Given the description of an element on the screen output the (x, y) to click on. 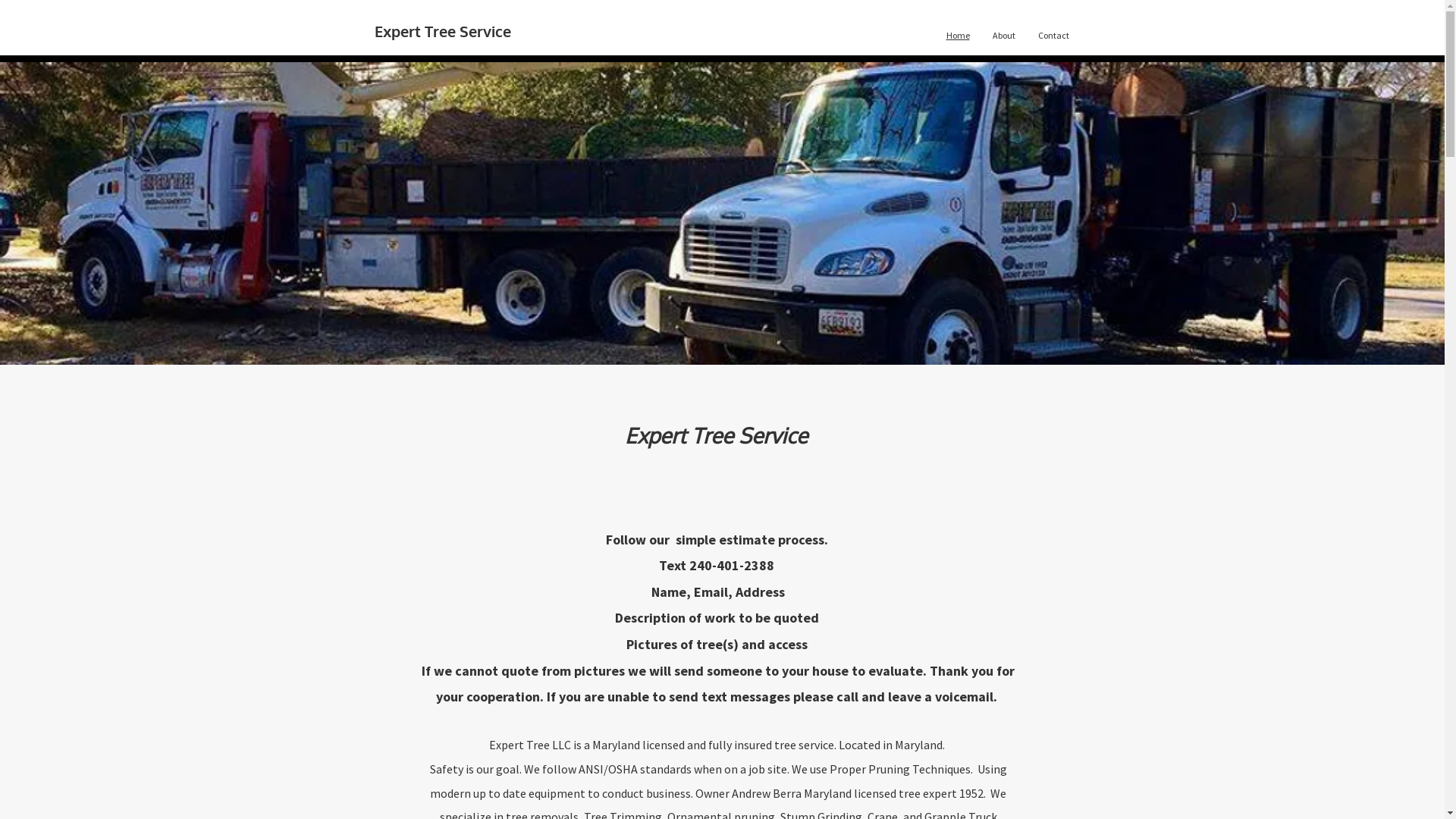
Contact Element type: text (1053, 35)
Home Element type: text (957, 35)
About Element type: text (1003, 35)
